Given the description of an element on the screen output the (x, y) to click on. 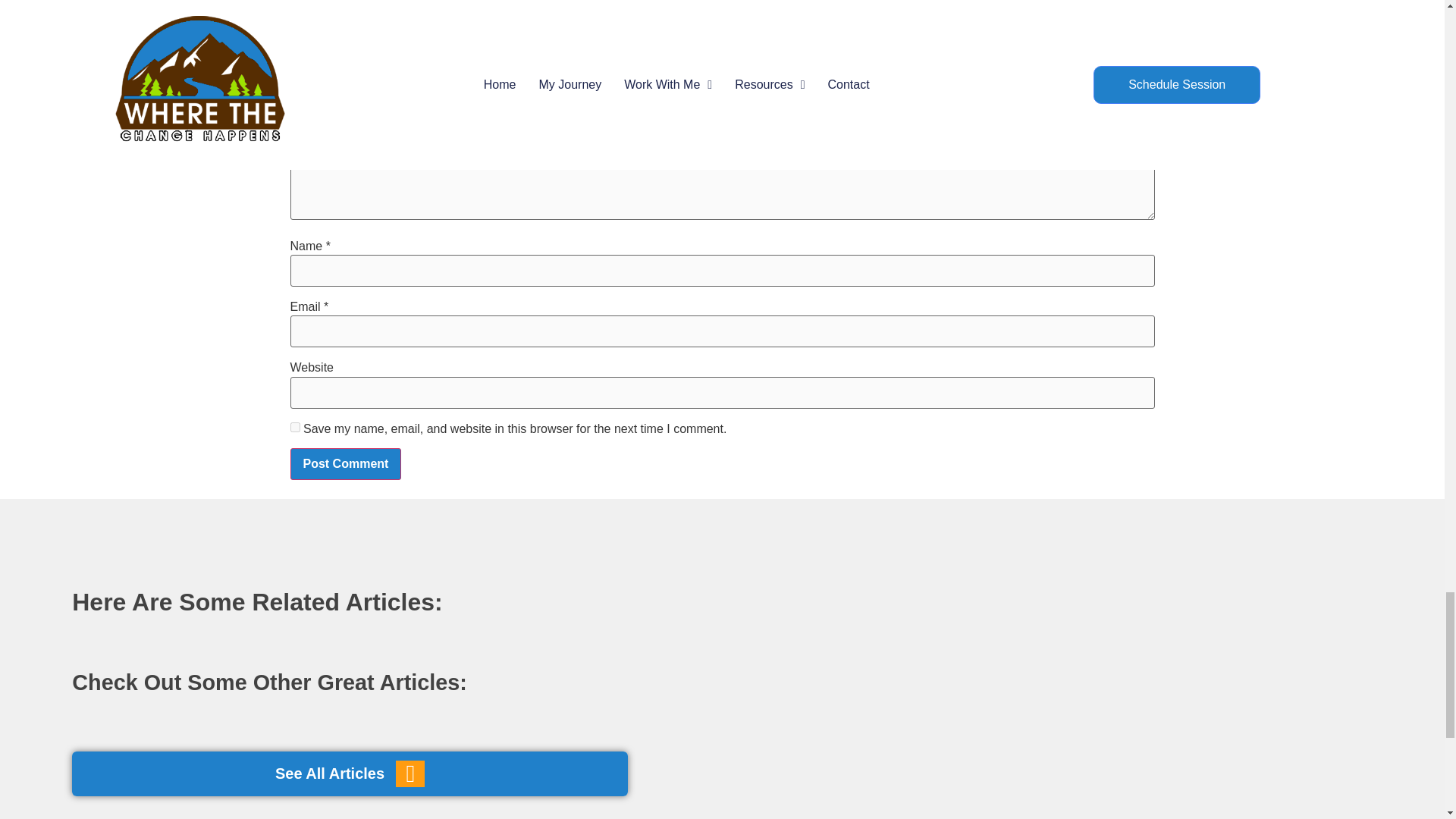
Post Comment (345, 463)
yes (294, 427)
